Given the description of an element on the screen output the (x, y) to click on. 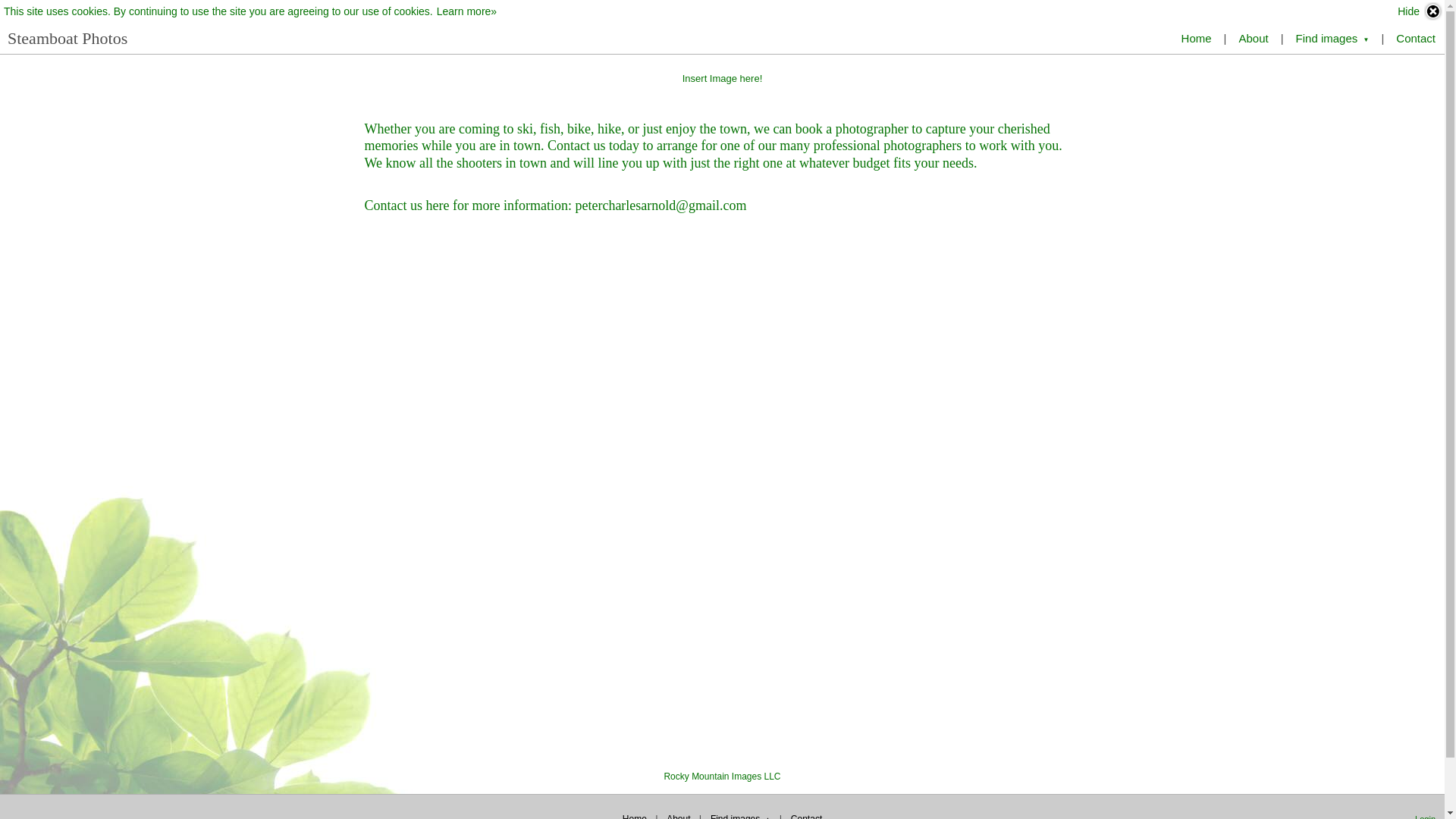
Hide (1419, 11)
Steamboat Photos (67, 38)
Home (635, 814)
Contact (806, 814)
Login (1425, 816)
Steamboat Photos (67, 38)
About (679, 814)
About (1252, 38)
Home (1196, 38)
